Given the description of an element on the screen output the (x, y) to click on. 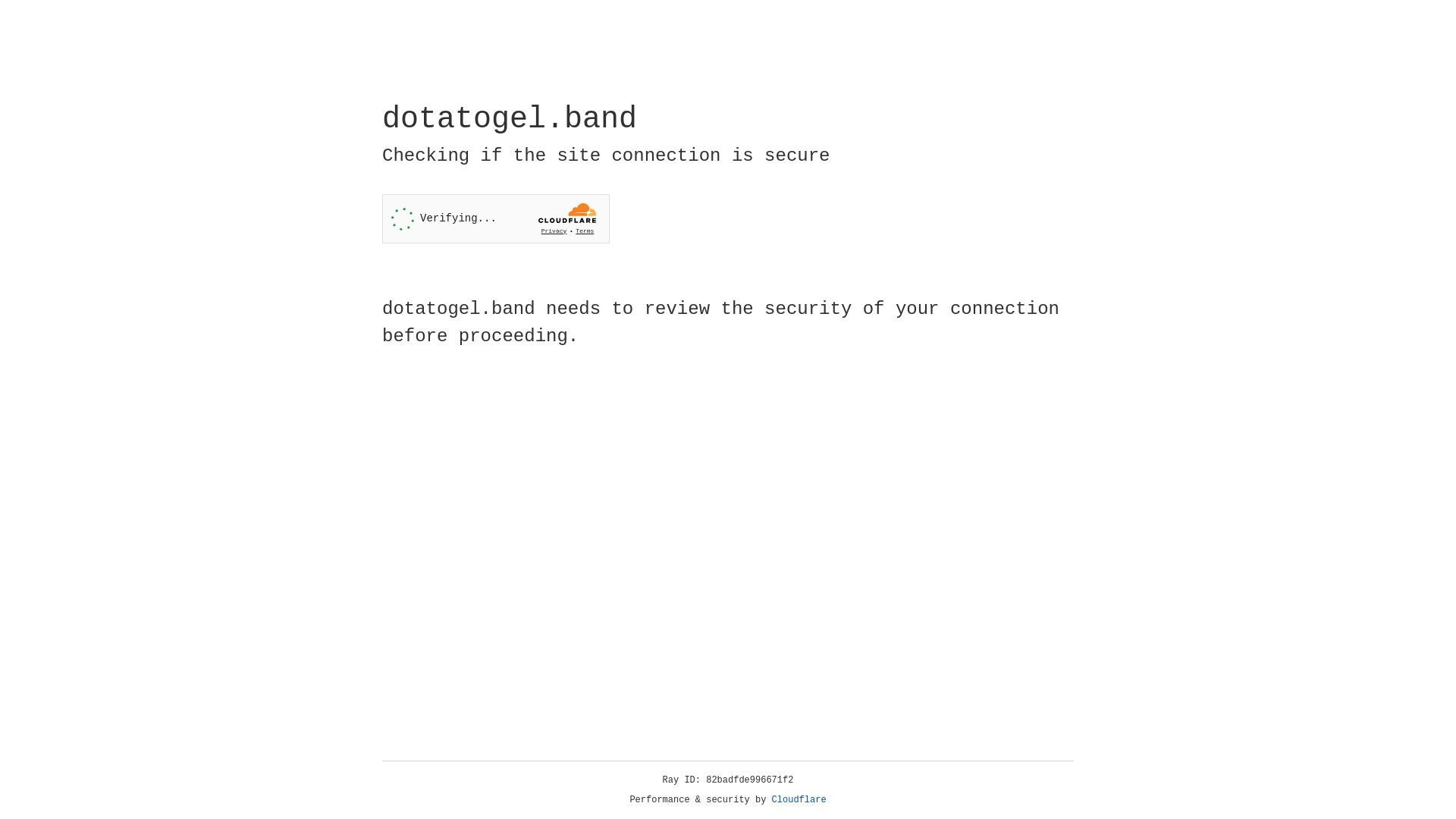
Widget containing a Cloudflare security challenge Element type: hover (495, 218)
Cloudflare Element type: text (798, 799)
